Given the description of an element on the screen output the (x, y) to click on. 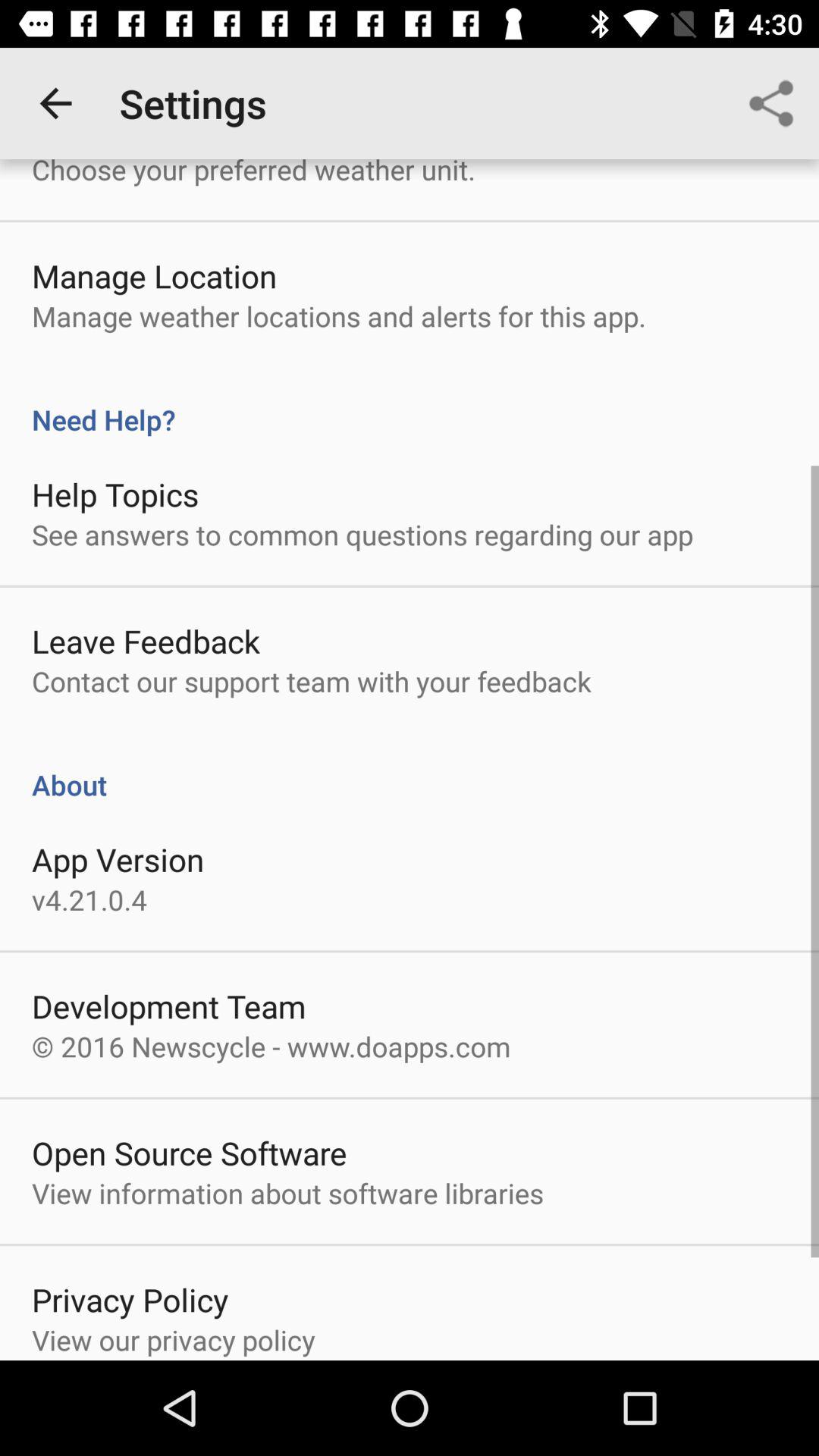
tap the icon above the choose your preferred (55, 103)
